Given the description of an element on the screen output the (x, y) to click on. 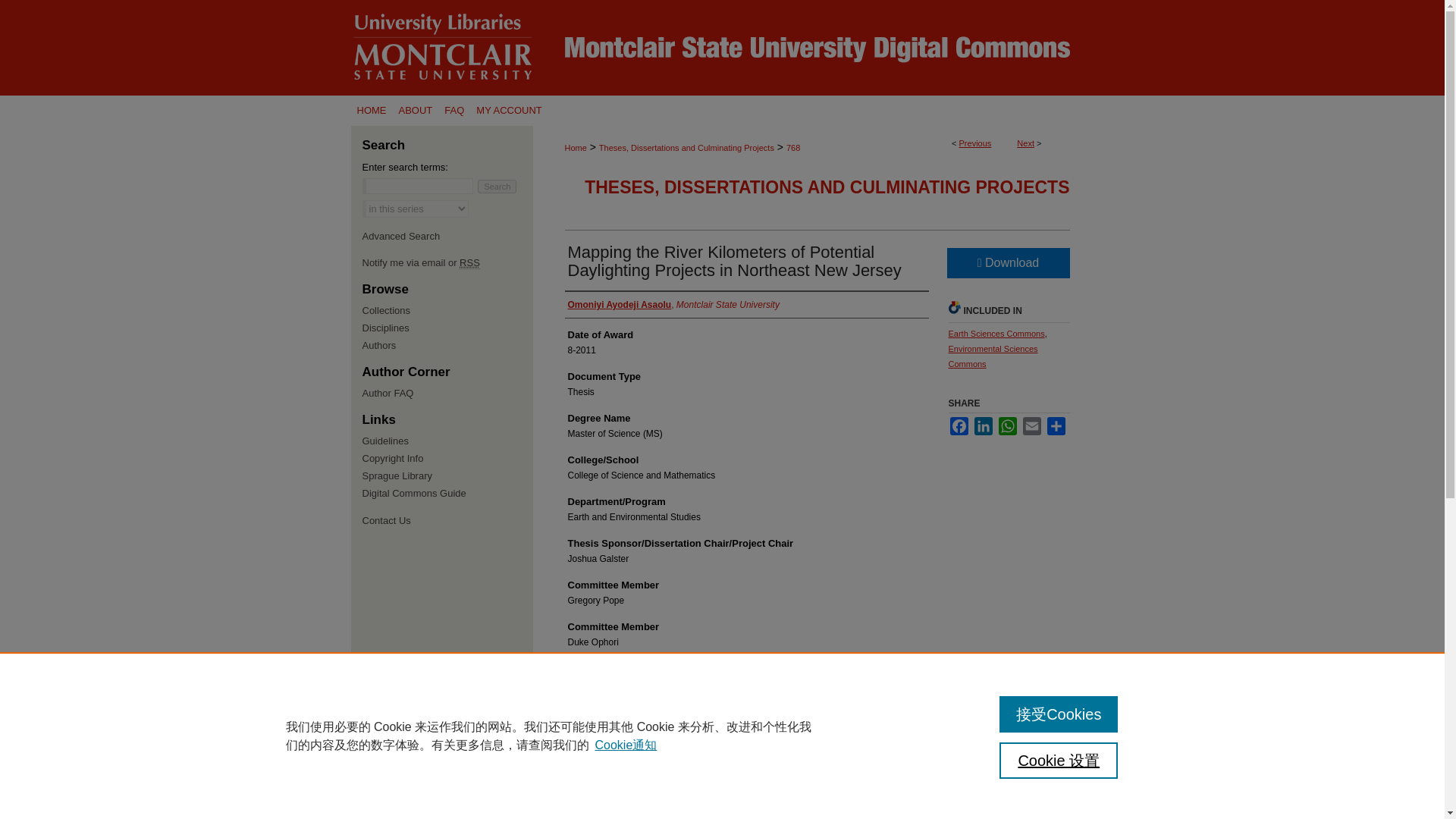
Montclair State University Digital Commons (721, 47)
FAQ (454, 110)
Download (1007, 263)
Browse by Collections (447, 310)
Email (1031, 425)
FAQ (454, 110)
Guidelines (447, 440)
ABOUT (416, 110)
Earth Sciences Commons (995, 333)
WhatsApp (1006, 425)
HOME (370, 110)
Earth Sciences Commons (995, 333)
Next (1024, 143)
Search (496, 186)
